Given the description of an element on the screen output the (x, y) to click on. 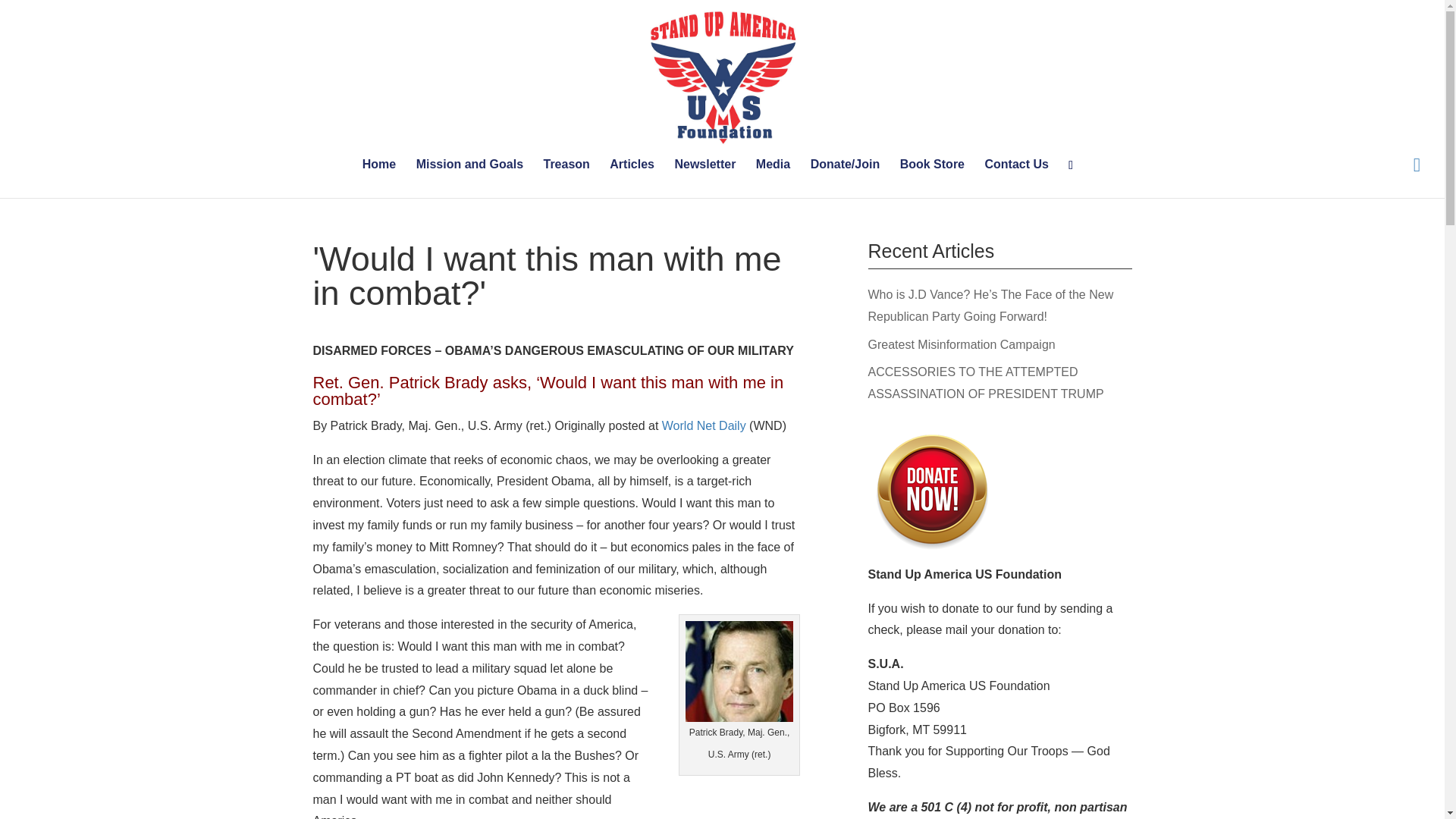
Greatest Misinformation Campaign (960, 344)
Articles (631, 178)
Mission and Goals (469, 178)
Book Store (931, 178)
pbrady300-150x140 (739, 670)
Newsletter (704, 178)
World Net Daily (703, 425)
Contact Us (1016, 178)
Treason (566, 178)
